Given the description of an element on the screen output the (x, y) to click on. 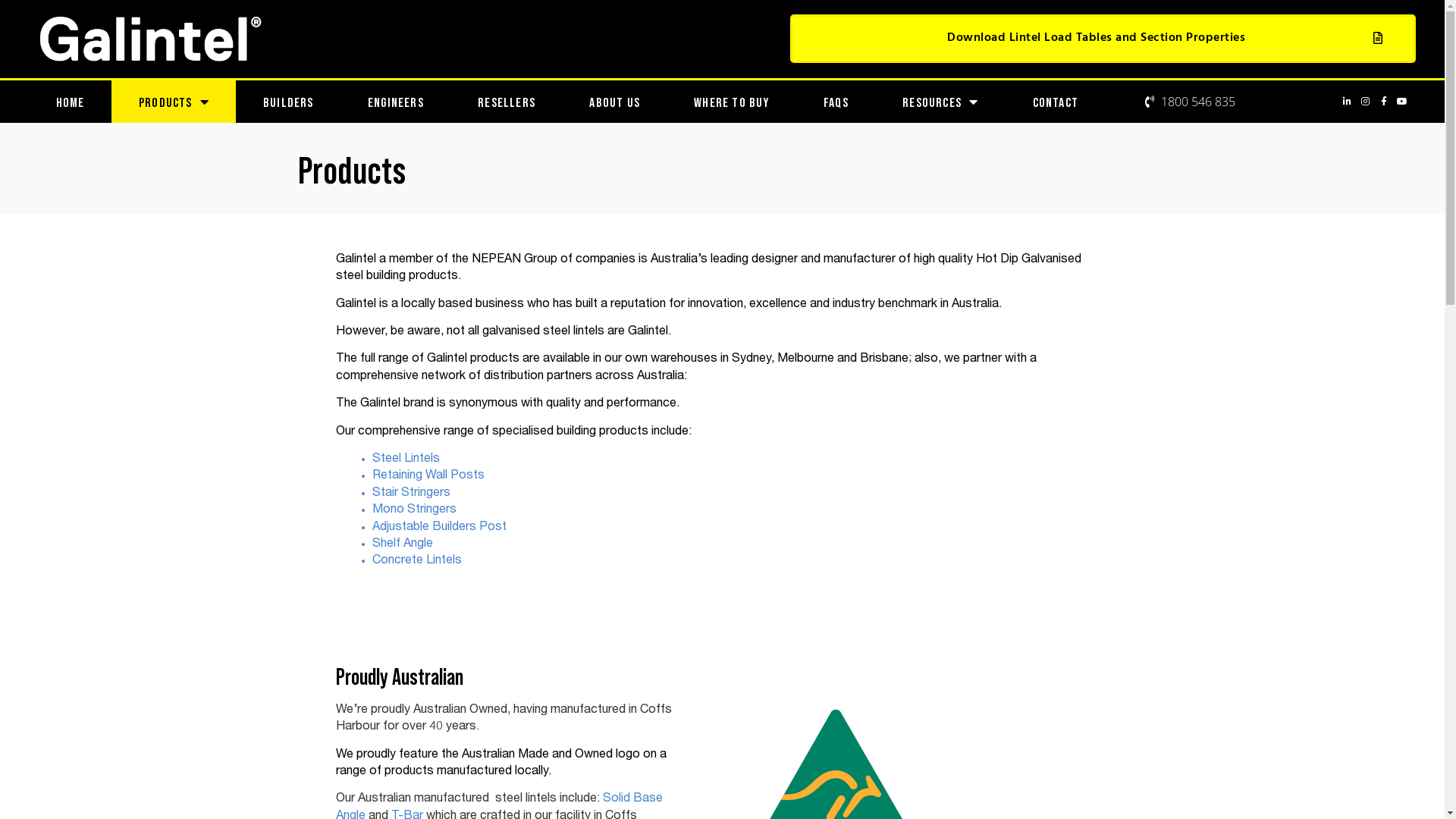
Download Lintel Load Tables and Section Properties Element type: text (1102, 38)
Shelf Angle Element type: text (401, 544)
PRODUCTS Element type: text (173, 101)
1800 546 835 Element type: text (1188, 101)
Adjustable Builders Post Element type: text (438, 527)
Youtube Element type: text (1402, 101)
Linkedin-in Element type: text (1347, 101)
RESELLERS Element type: text (506, 101)
HOME Element type: text (69, 101)
Facebook-f Element type: text (1383, 101)
BUILDERS Element type: text (287, 101)
CONTACT Element type: text (1055, 101)
WHERE TO BUY Element type: text (732, 101)
Stair Stringers Element type: text (410, 493)
ENGINEERS Element type: text (395, 101)
Instagram Element type: text (1365, 101)
FAQS Element type: text (835, 101)
Mono Stringers Element type: text (413, 510)
Retaining Wall Posts Element type: text (427, 476)
Steel Lintels  Element type: text (406, 459)
ABOUT US Element type: text (614, 101)
RESOURCES Element type: text (940, 101)
Concrete Lintels Element type: text (416, 561)
